Given the description of an element on the screen output the (x, y) to click on. 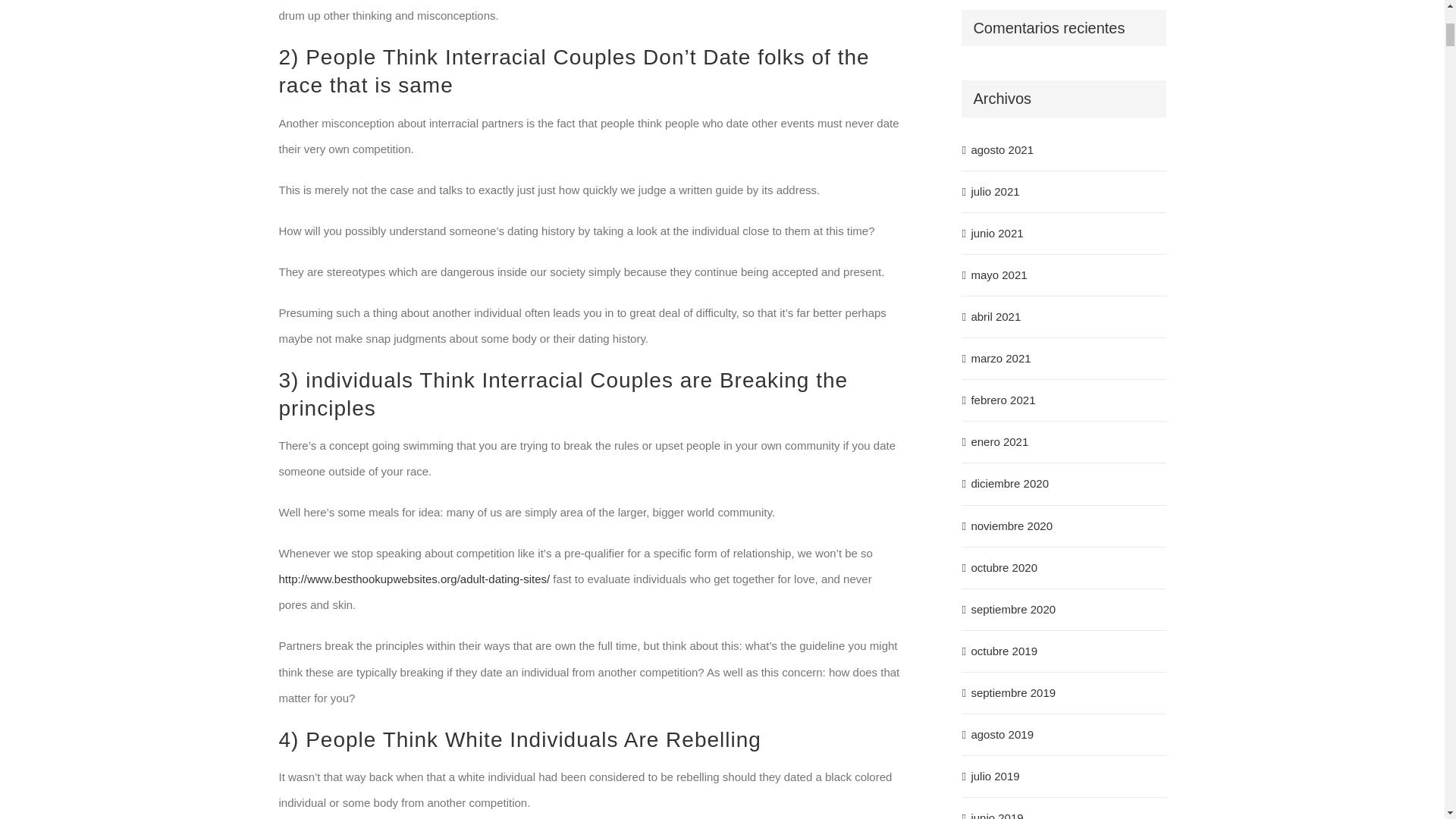
marzo 2021 (1000, 358)
mayo 2021 (998, 274)
julio 2021 (995, 191)
febrero 2021 (1003, 399)
abril 2021 (995, 316)
junio 2021 (997, 232)
agosto 2021 (1002, 149)
